Given the description of an element on the screen output the (x, y) to click on. 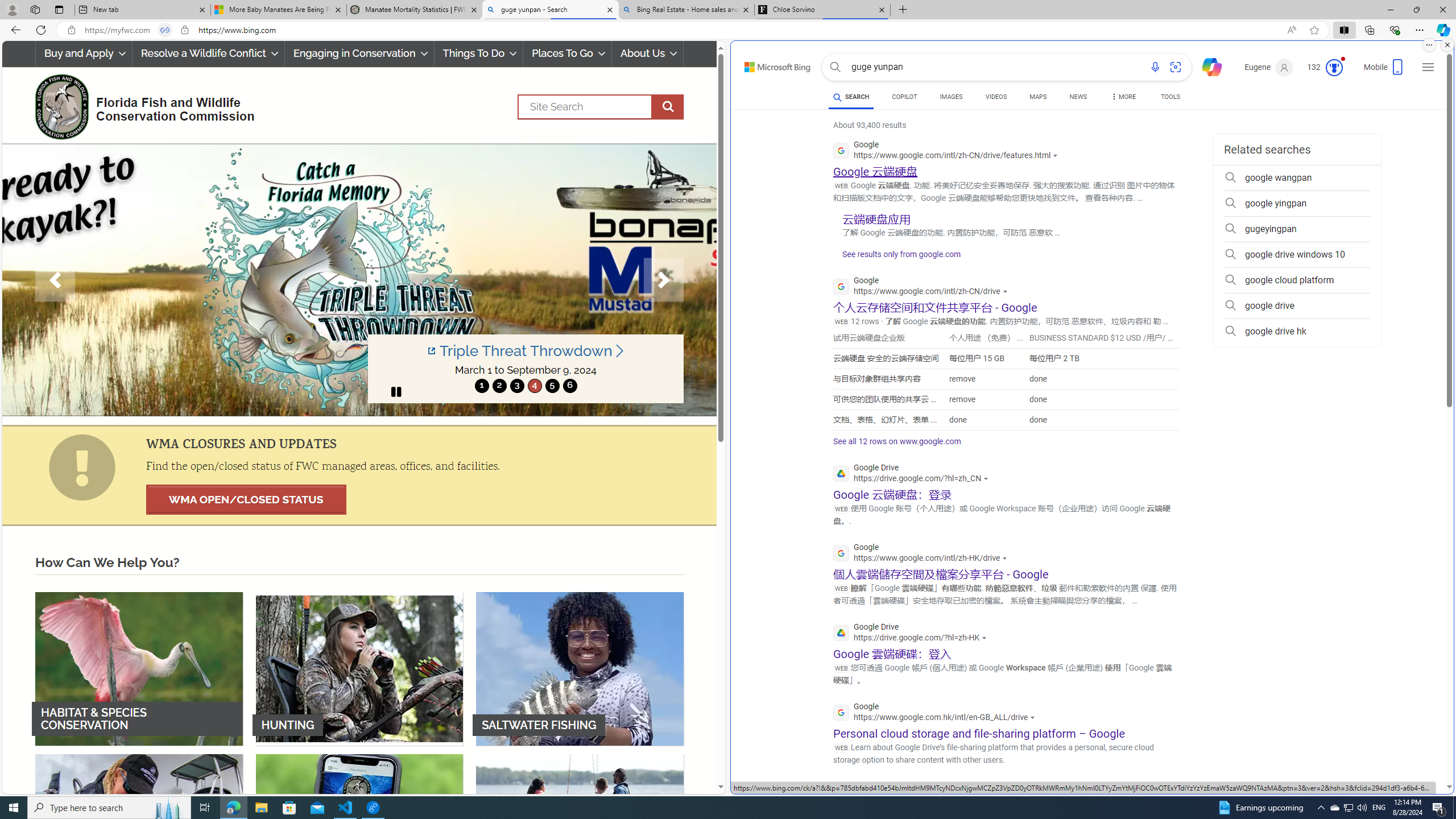
Copilot (Ctrl+Shift+.) (1442, 29)
carousel image link (359, 279)
Previous (54, 279)
Close tab (881, 9)
gugeyingpan (1297, 229)
FWC Logo (61, 106)
Resolve a Wildlife Conflict (207, 53)
COPILOT (903, 96)
execute site search (667, 106)
